Given the description of an element on the screen output the (x, y) to click on. 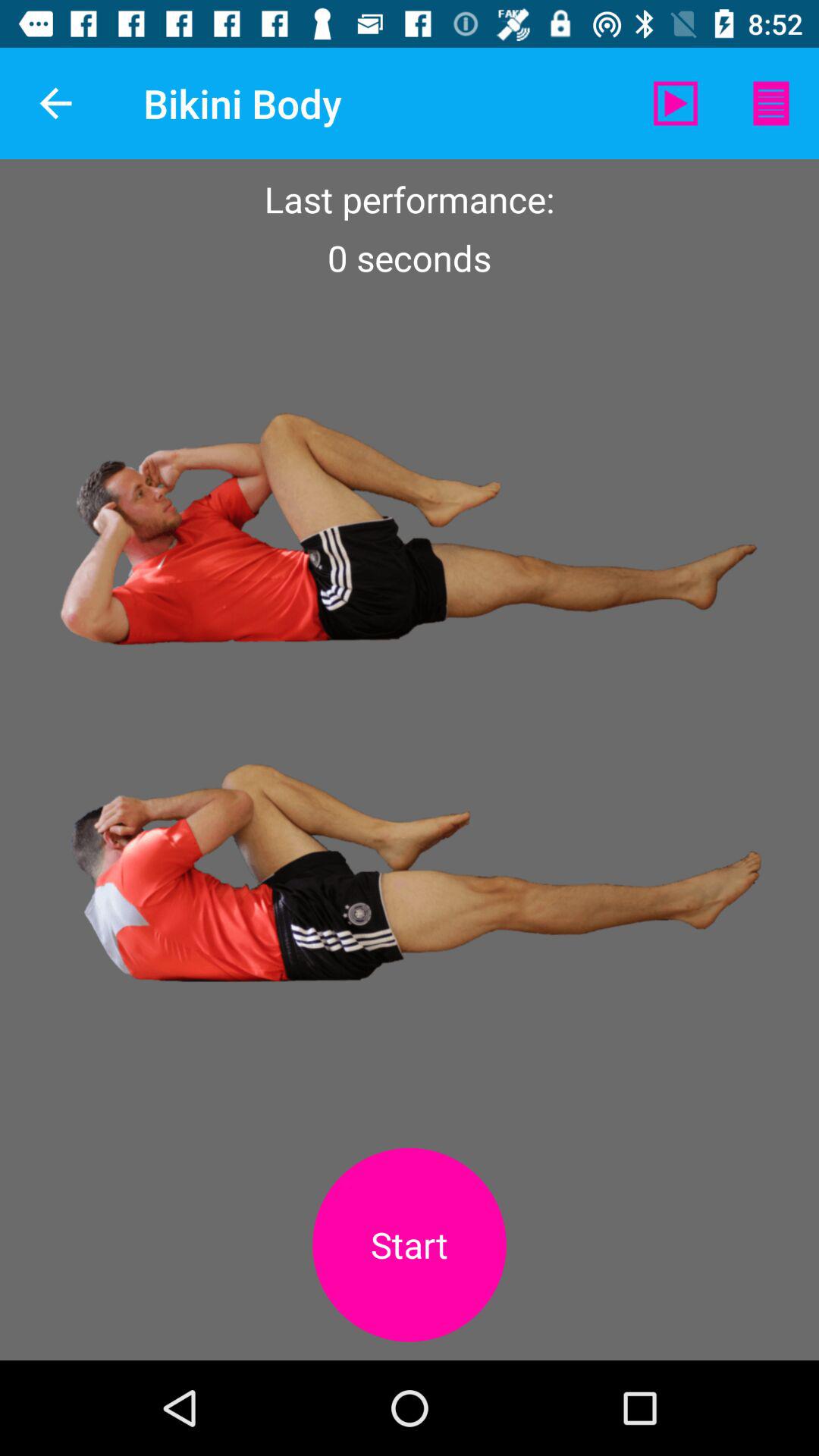
start the exercise (409, 1244)
